Given the description of an element on the screen output the (x, y) to click on. 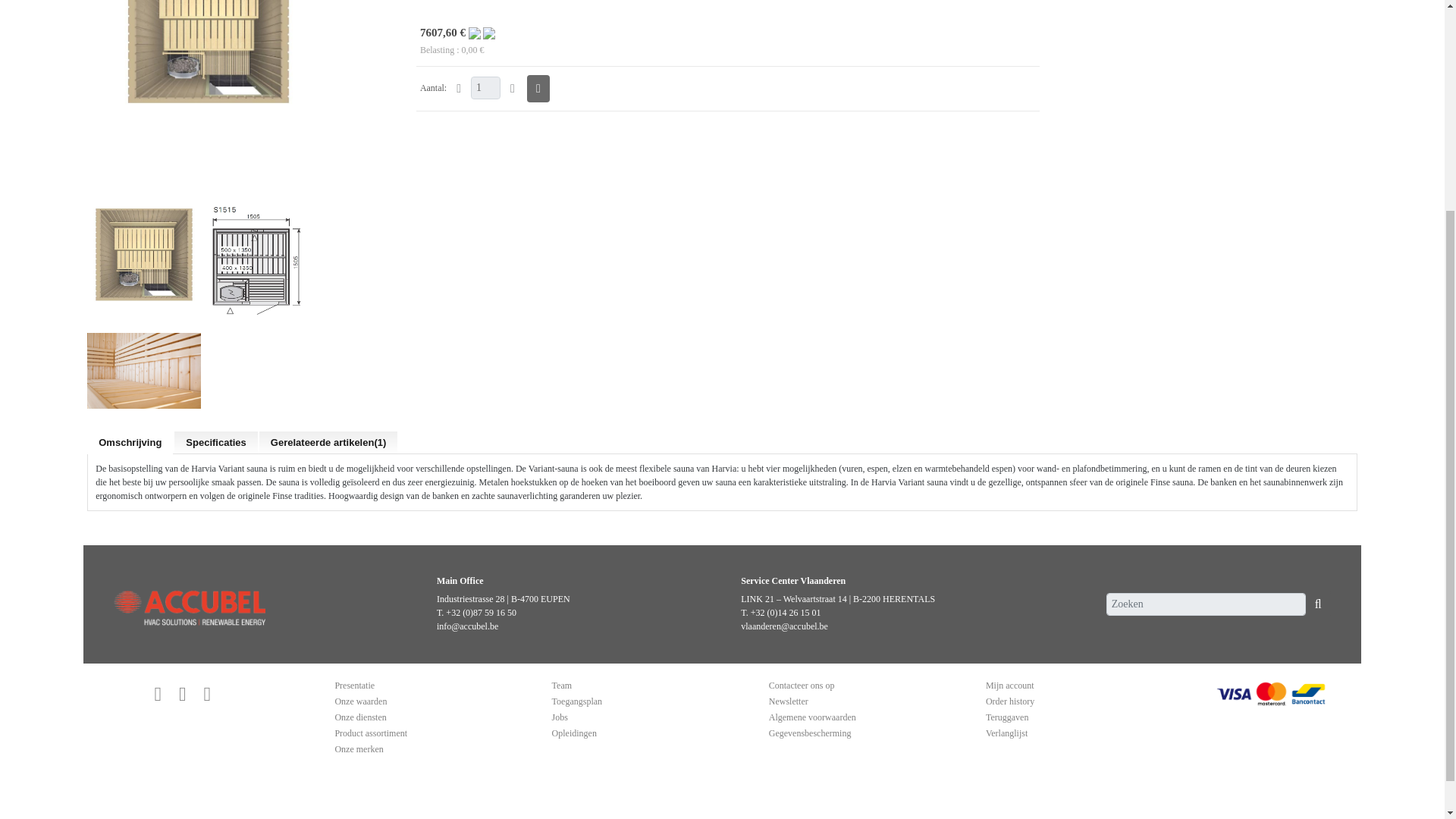
1 (485, 87)
Specificaties (215, 442)
Omschrijving (130, 442)
